Given the description of an element on the screen output the (x, y) to click on. 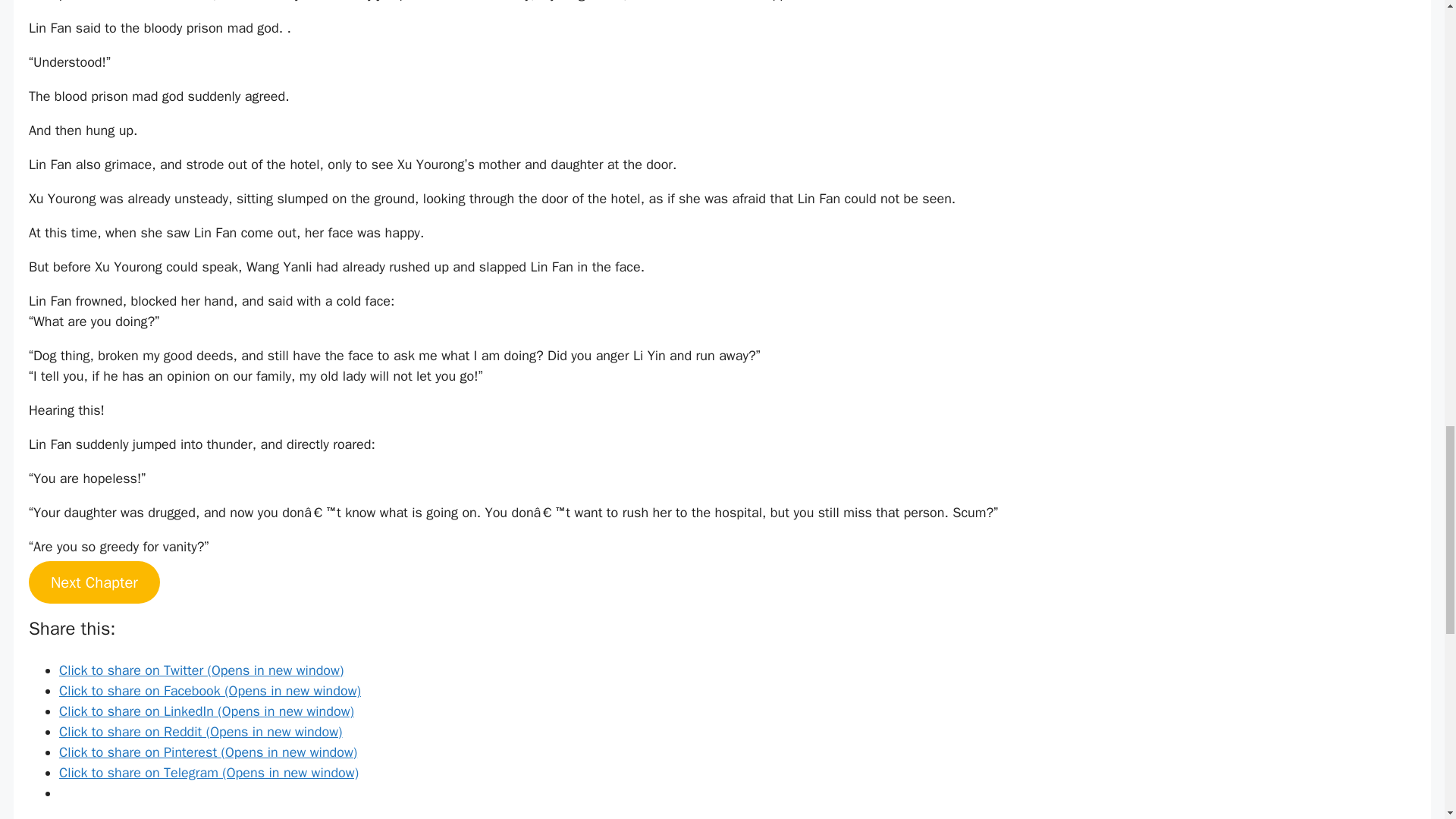
Click to share on Reddit (200, 731)
Next Chapter (94, 582)
Click to share on LinkedIn (206, 710)
Click to share on Facebook (210, 690)
Click to share on Telegram (208, 772)
Click to share on Twitter (201, 669)
Click to share on Pinterest (207, 751)
